Given the description of an element on the screen output the (x, y) to click on. 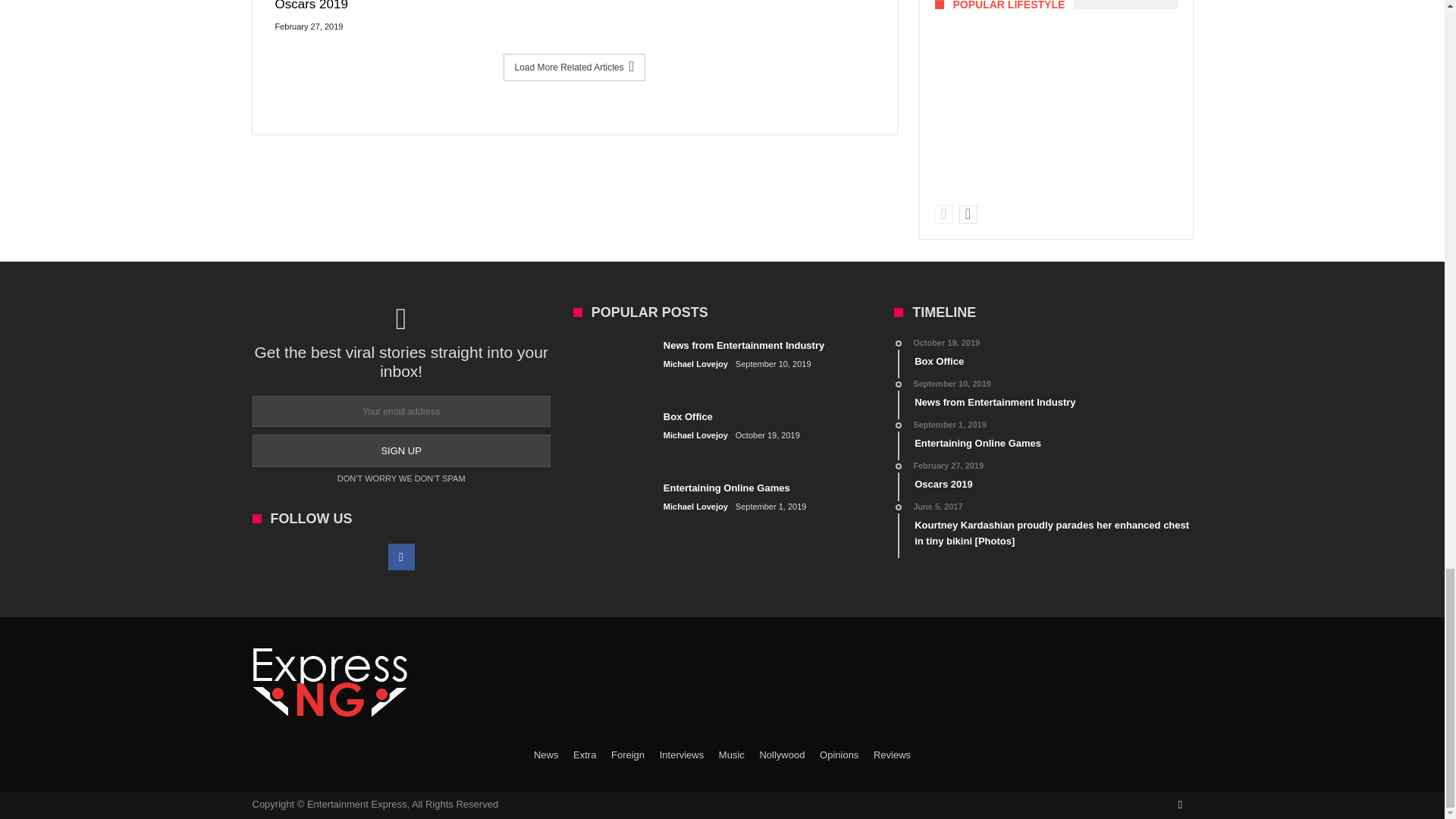
Posts by Michael Lovejoy (695, 364)
Posts by Michael Lovejoy (695, 435)
Posts by Michael Lovejoy (695, 506)
Facebook (401, 557)
Sign up (400, 450)
